Given the description of an element on the screen output the (x, y) to click on. 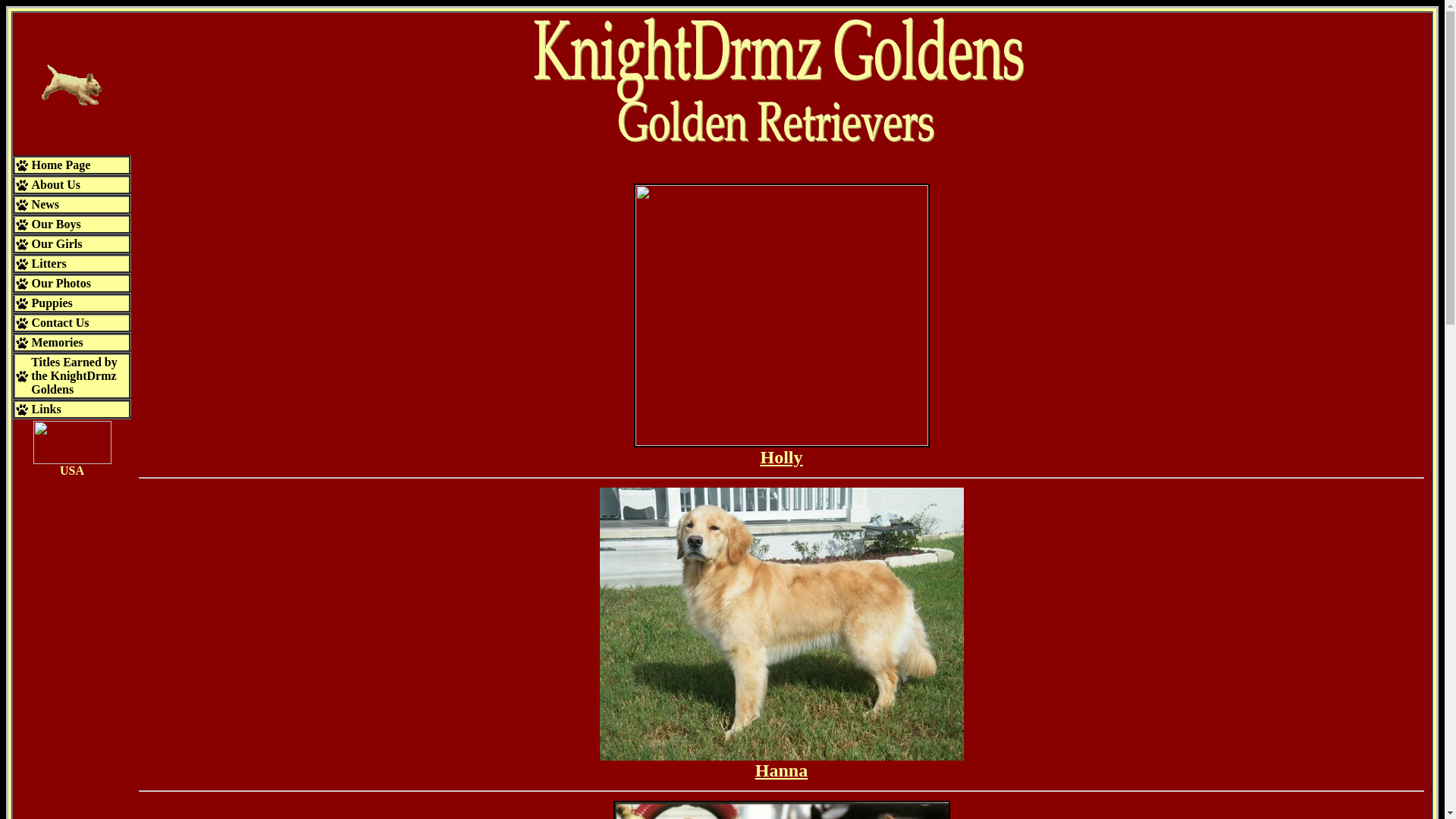
Links (46, 408)
Puppies (52, 302)
Our Girls (57, 243)
Titles Earned by the KnightDrmz Goldens (73, 375)
News (45, 204)
Our Boys (56, 223)
Litters (49, 263)
Hanna (781, 770)
Home Page (61, 164)
Holly (781, 456)
Our Photos (61, 282)
Memories (56, 341)
Contact Us (60, 322)
About Us (56, 184)
